Given the description of an element on the screen output the (x, y) to click on. 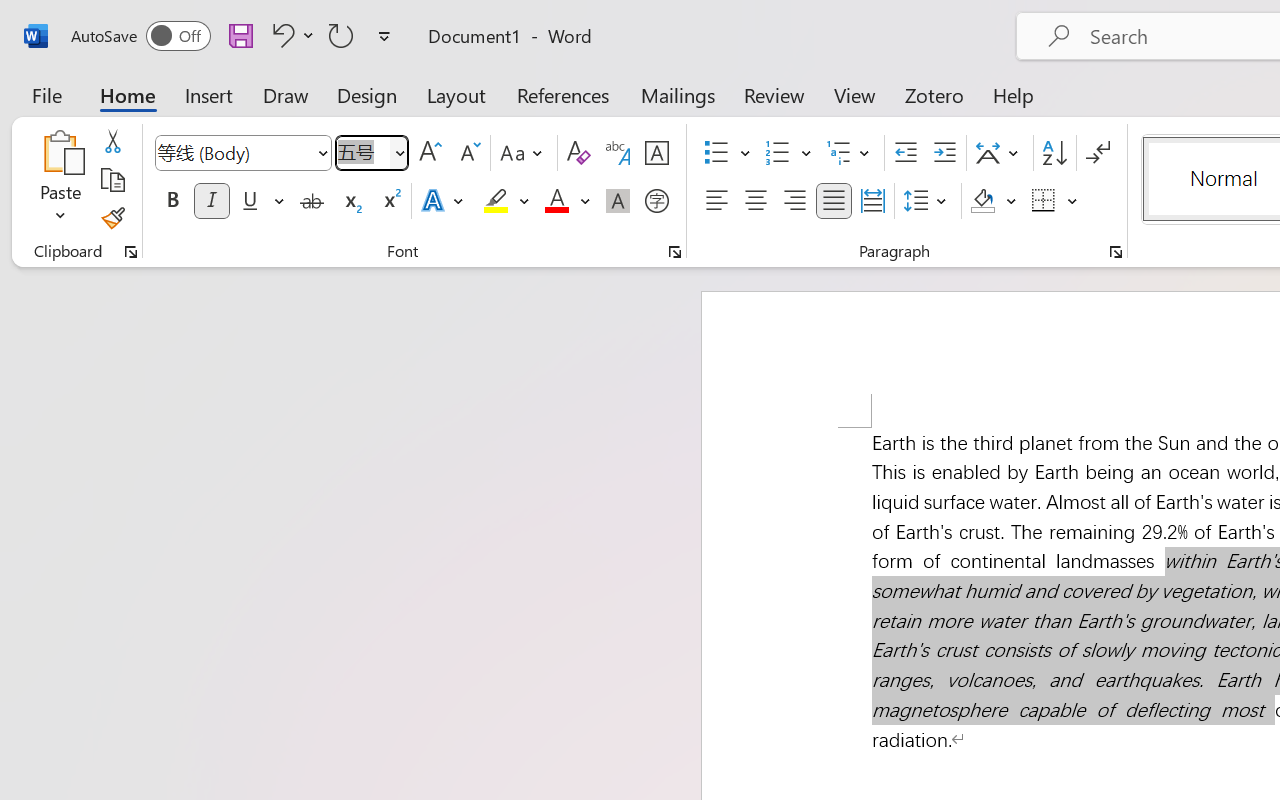
Asian Layout (1000, 153)
Align Right (794, 201)
Subscript (350, 201)
Text Highlight Color (506, 201)
Format Painter (112, 218)
Paragraph... (1115, 252)
Undo Italic (290, 35)
Font... (675, 252)
Justify (834, 201)
Open (399, 152)
